Given the description of an element on the screen output the (x, y) to click on. 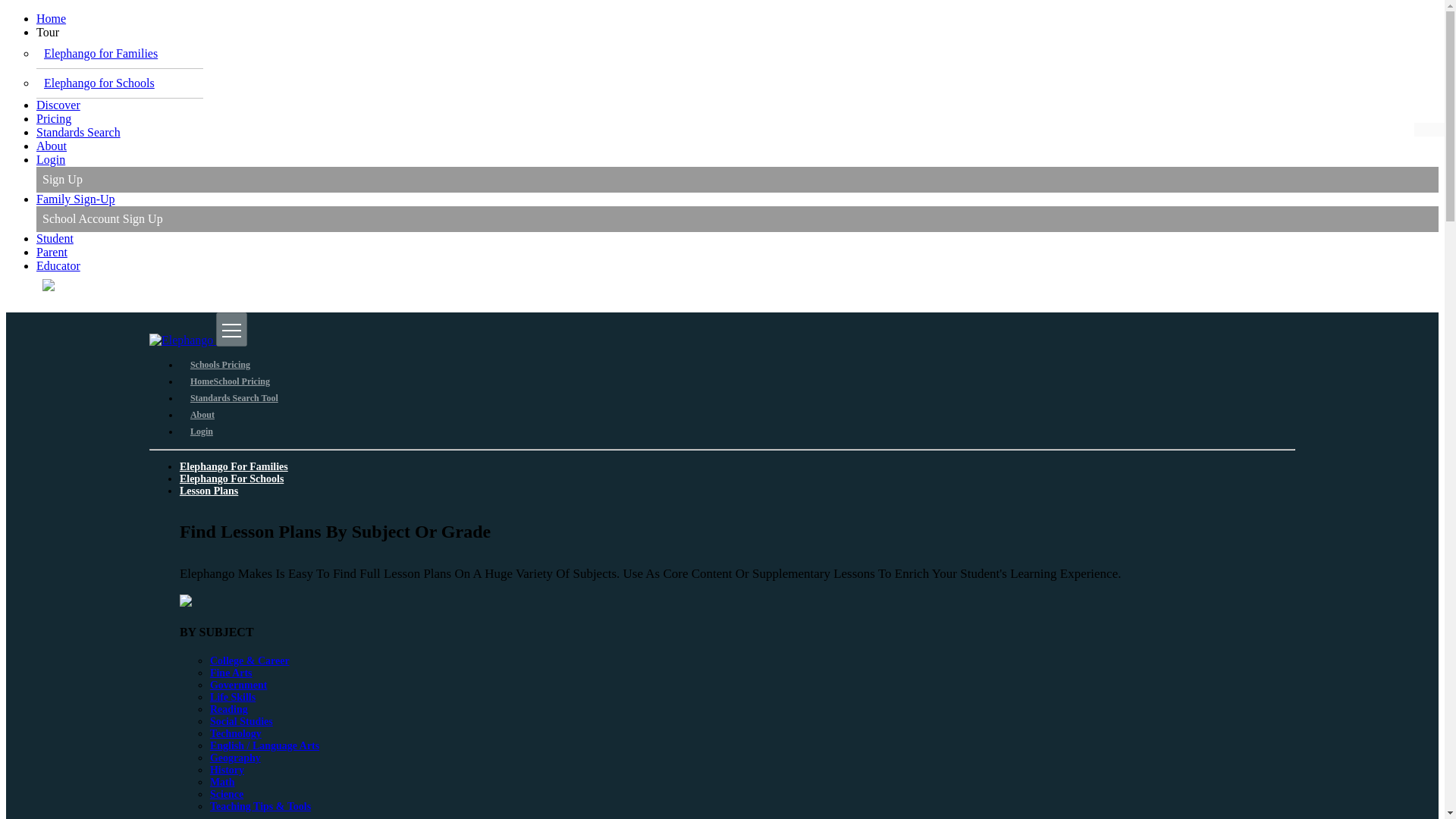
History (226, 769)
Family Sign-Up (75, 198)
Geography (234, 757)
Government (237, 685)
Parent (51, 251)
Login (201, 430)
Elephango for Schools (98, 82)
Fine Arts (230, 672)
About (51, 145)
Standards Search (78, 132)
Science (226, 794)
About (202, 414)
Elephango For Schools (231, 478)
Elephango for Families (100, 52)
Math (221, 781)
